Given the description of an element on the screen output the (x, y) to click on. 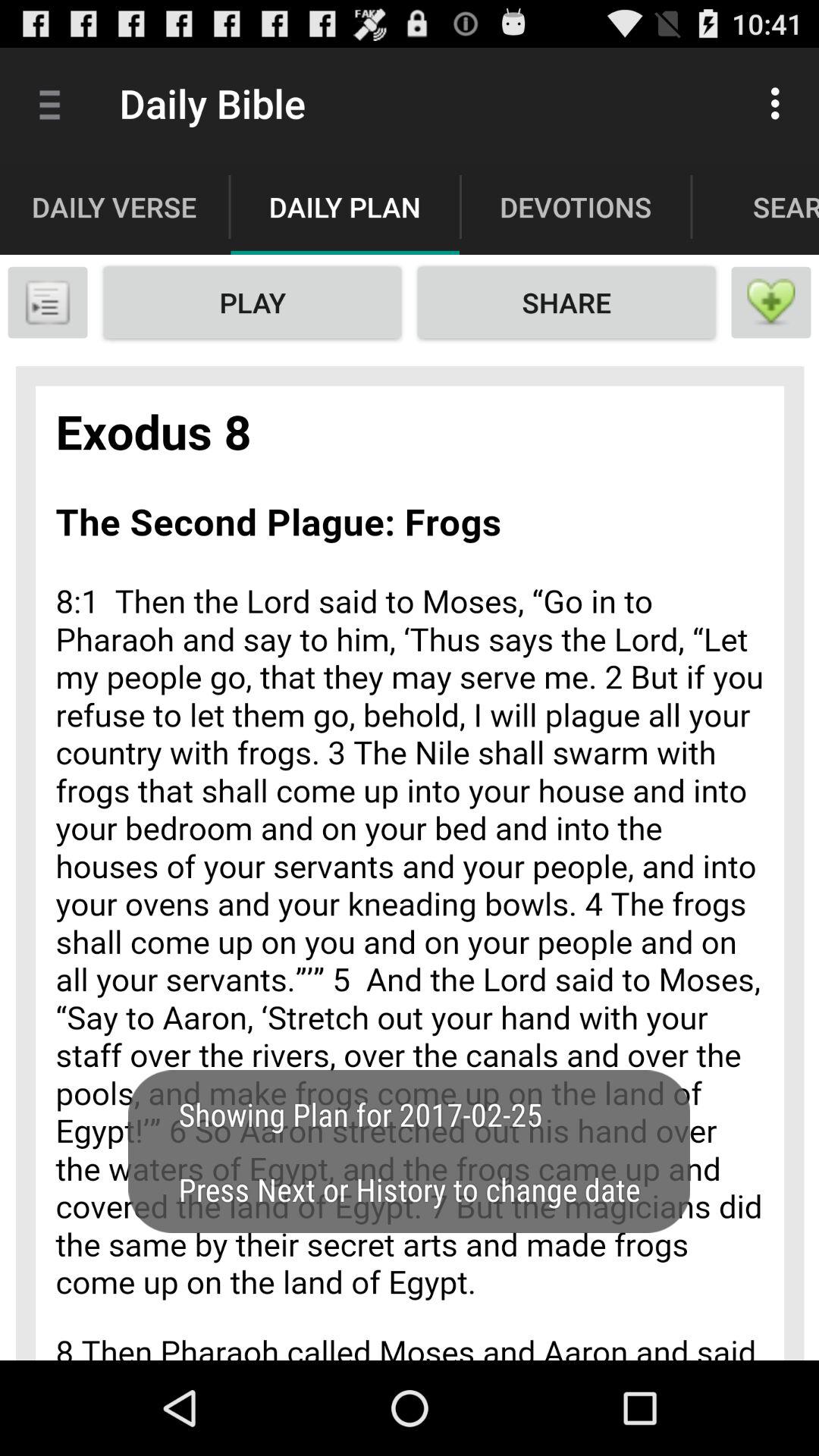
book mark option (47, 302)
